Given the description of an element on the screen output the (x, y) to click on. 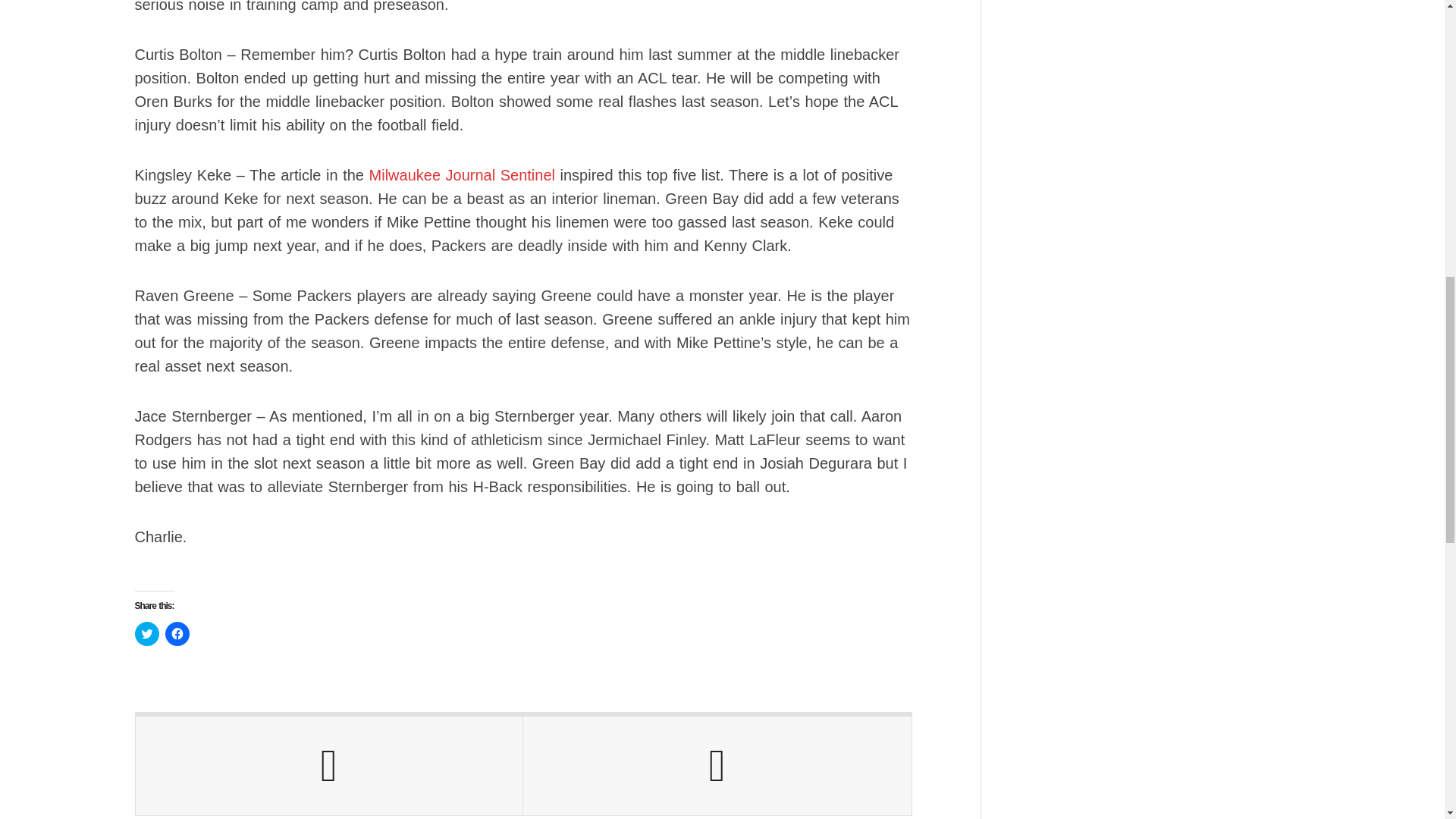
Previous Post (328, 765)
Click to share on Facebook (177, 633)
Click to share on Twitter (146, 633)
Milwaukee Journal Sentinel (459, 175)
Next Post (716, 765)
